Given the description of an element on the screen output the (x, y) to click on. 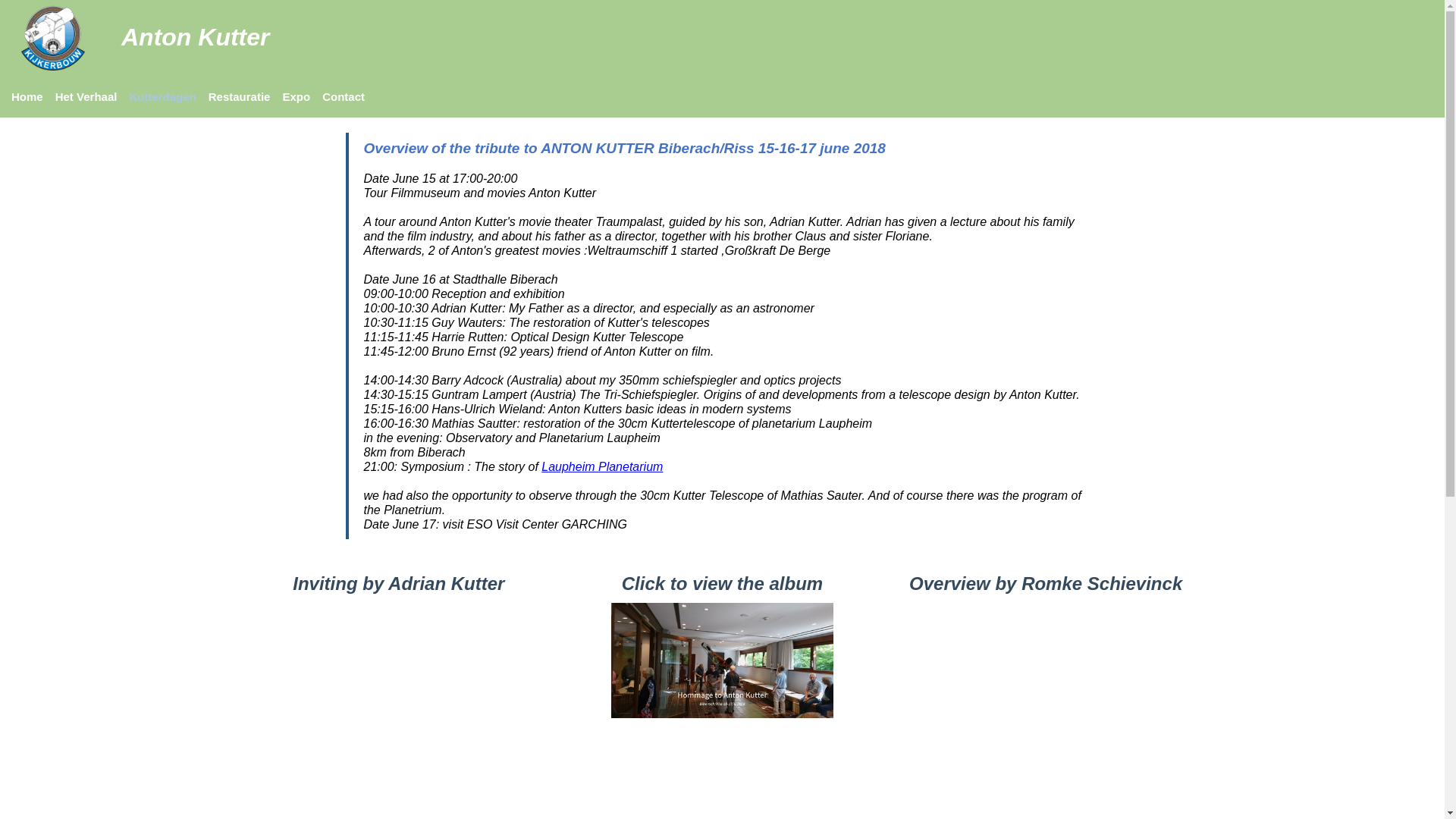
Restauratie Element type: text (239, 96)
Laupheim Planetarium Element type: text (601, 466)
Expo Element type: text (296, 96)
Contact Element type: text (343, 96)
Home Element type: text (27, 96)
Het Verhaal Element type: text (86, 96)
